Given the description of an element on the screen output the (x, y) to click on. 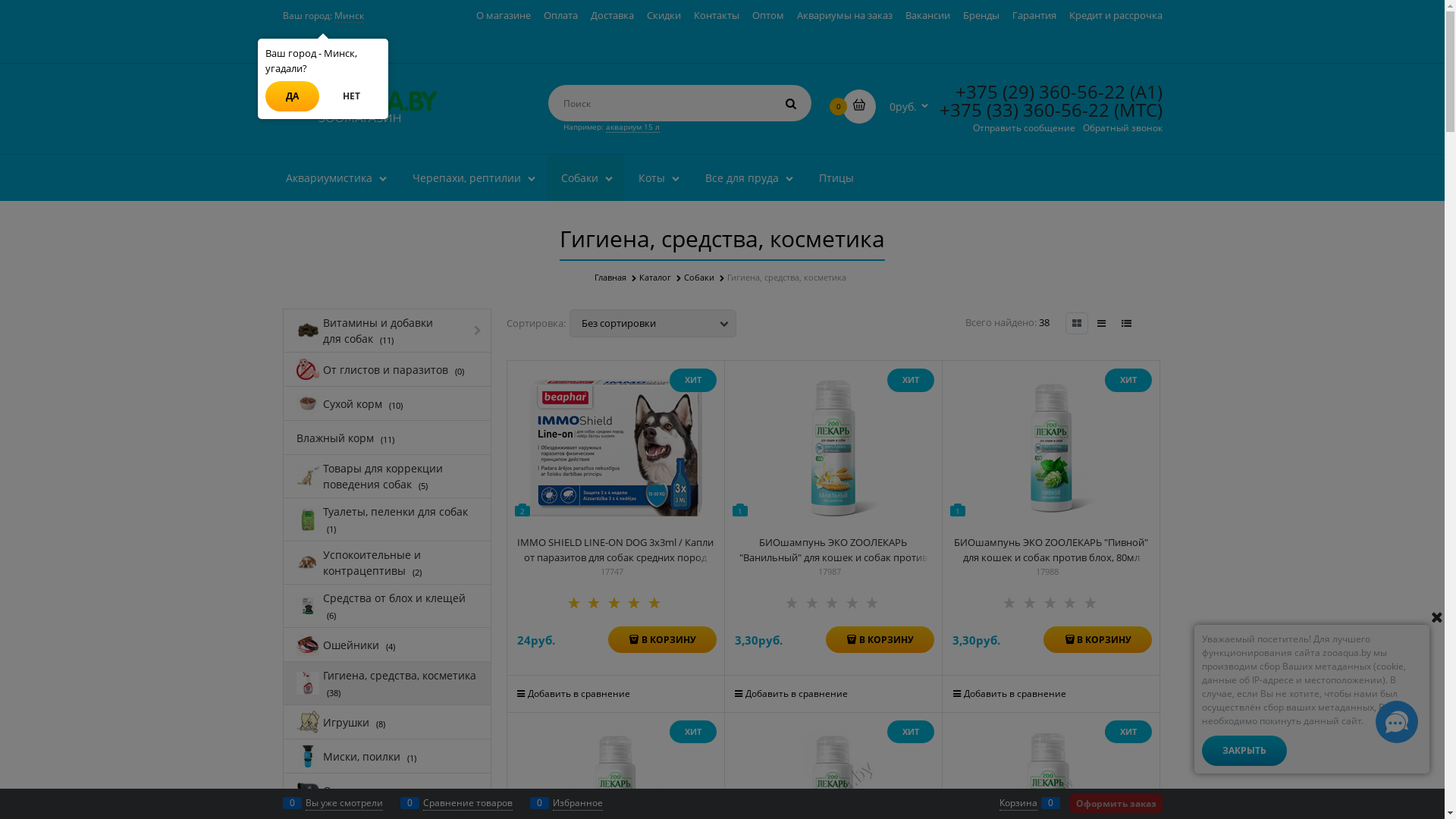
0 Element type: text (858, 106)
+375 (33) 360-56-22 (MTC) Element type: text (1049, 109)
+375 (29) 360-56-22 (A1) Element type: text (1058, 90)
